Given the description of an element on the screen output the (x, y) to click on. 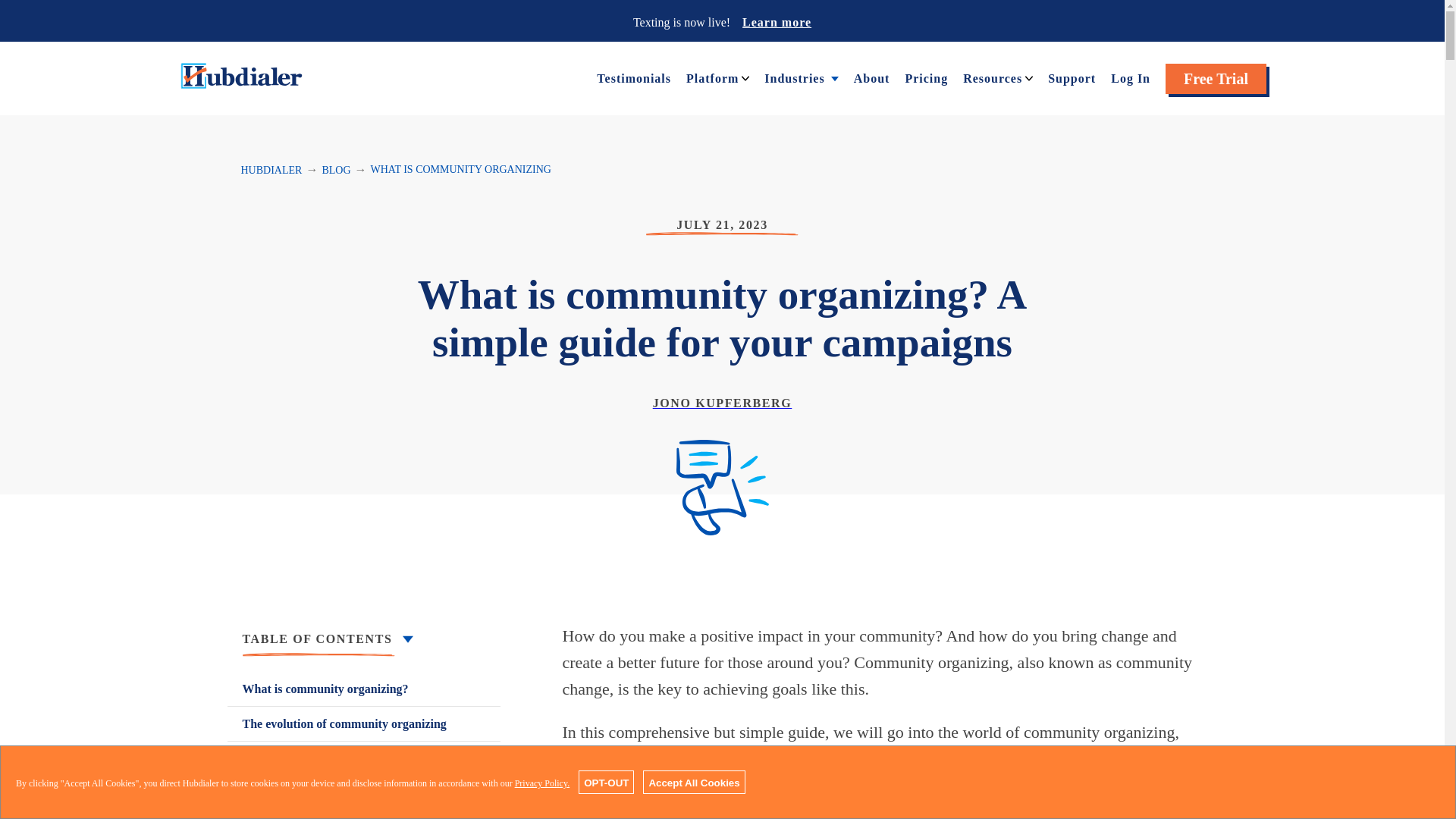
OPT-OUT (605, 781)
Support (1072, 77)
What are the other steps in successful community organizing? (363, 807)
WHAT IS COMMUNITY ORGANIZING (461, 169)
Free Trial (1216, 78)
What is the first step in community organizing? (363, 768)
Pricing (925, 77)
Platform (711, 77)
About (871, 77)
Log In (1130, 77)
Industries (794, 77)
BLOG (335, 170)
The evolution of community organizing (363, 723)
Testimonials (633, 77)
